Given the description of an element on the screen output the (x, y) to click on. 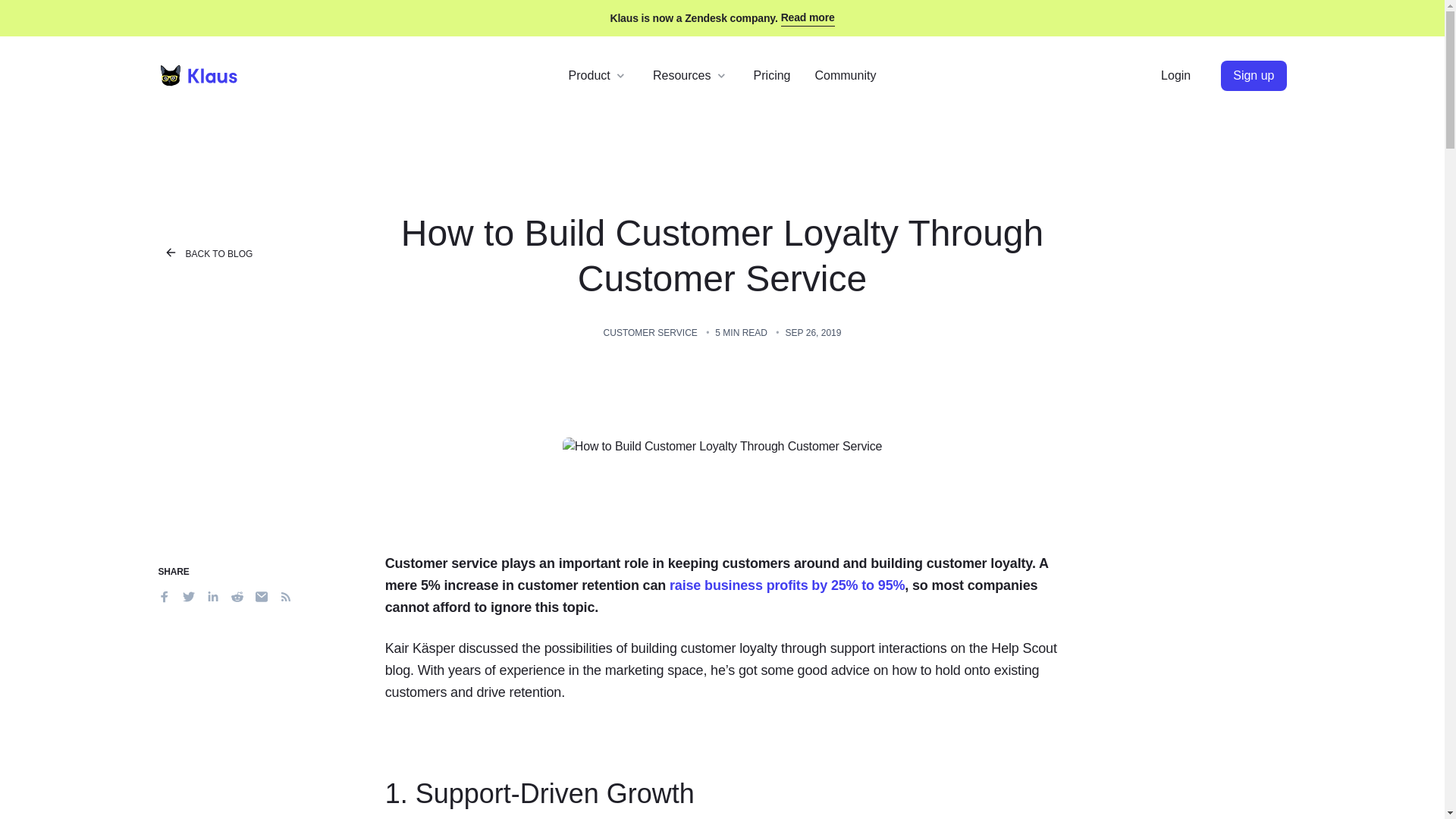
Read more: Klaus is now a Zendesk company. (807, 17)
BACK TO BLOG (270, 254)
Resources (690, 75)
Product (598, 75)
Read more (807, 17)
Pricing (772, 75)
Resources (690, 75)
CUSTOMER SERVICE (650, 332)
Community (845, 75)
Community (845, 75)
